Given the description of an element on the screen output the (x, y) to click on. 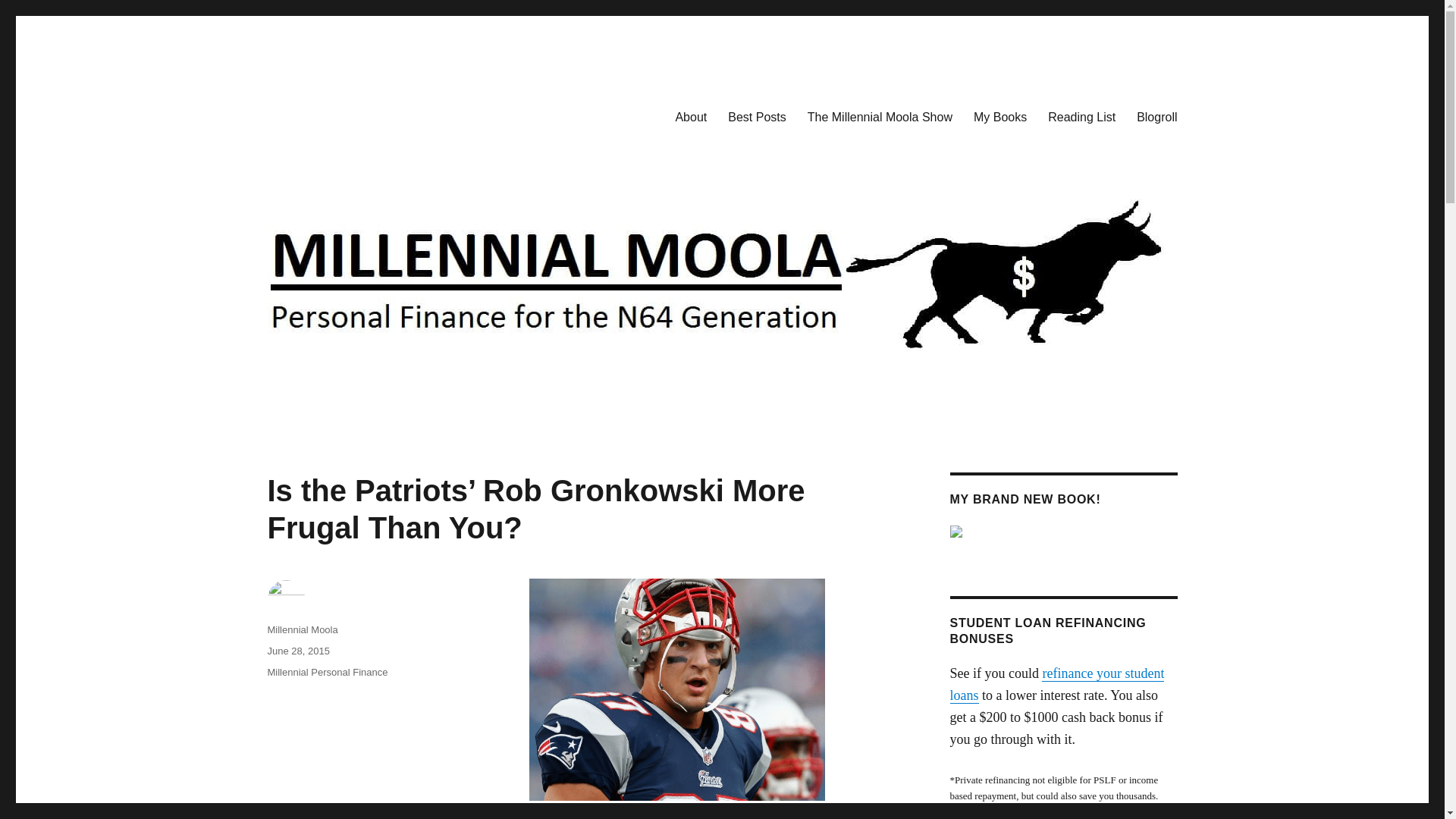
refinance your student loans (1056, 683)
About (690, 116)
Blogroll (1156, 116)
The Millennial Moola Show (879, 116)
My Books (999, 116)
Millennial Personal Finance (326, 672)
Reading List (1080, 116)
June 28, 2015 (297, 650)
Millennial Moola (301, 629)
Best Posts (756, 116)
